Given the description of an element on the screen output the (x, y) to click on. 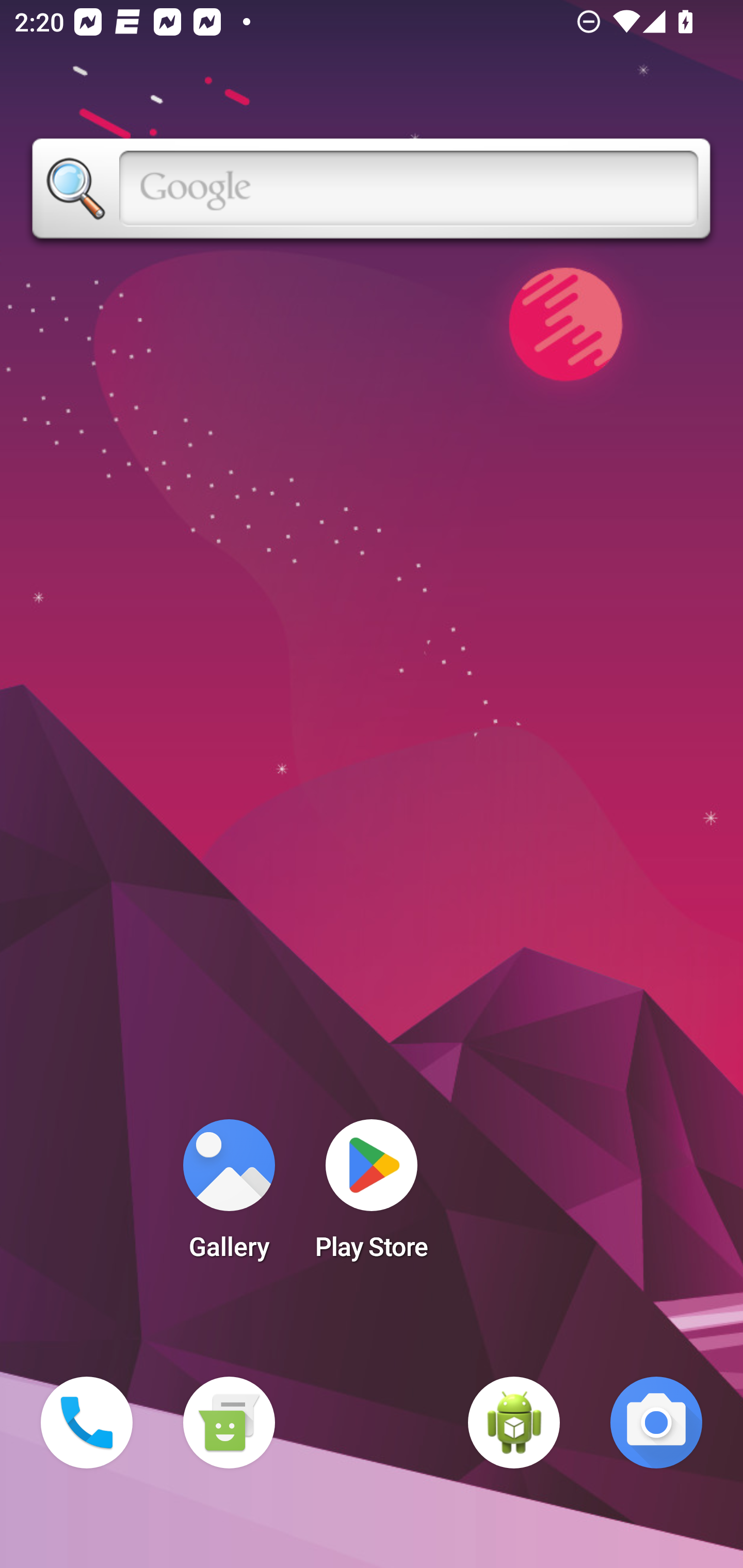
Gallery (228, 1195)
Play Store (371, 1195)
Phone (86, 1422)
Messaging (228, 1422)
WebView Browser Tester (513, 1422)
Camera (656, 1422)
